Given the description of an element on the screen output the (x, y) to click on. 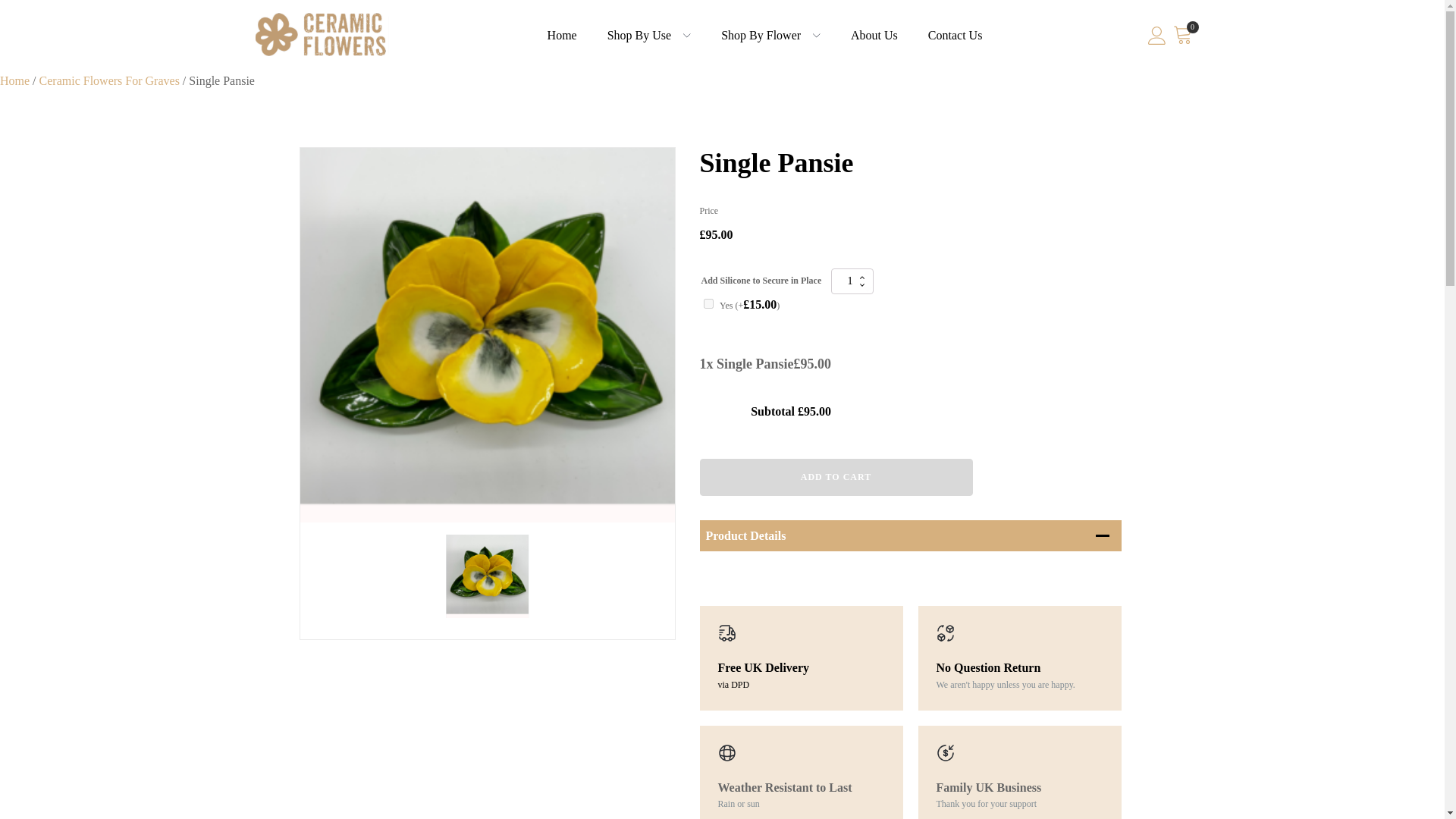
ADD TO CART (835, 476)
Ceramic Flowers For Graves (109, 80)
Shop By Flower (760, 35)
About Us (874, 35)
1 (852, 281)
Home (562, 35)
Home (14, 80)
Shop By Use (638, 35)
Contact Us (954, 35)
yes (708, 303)
